Given the description of an element on the screen output the (x, y) to click on. 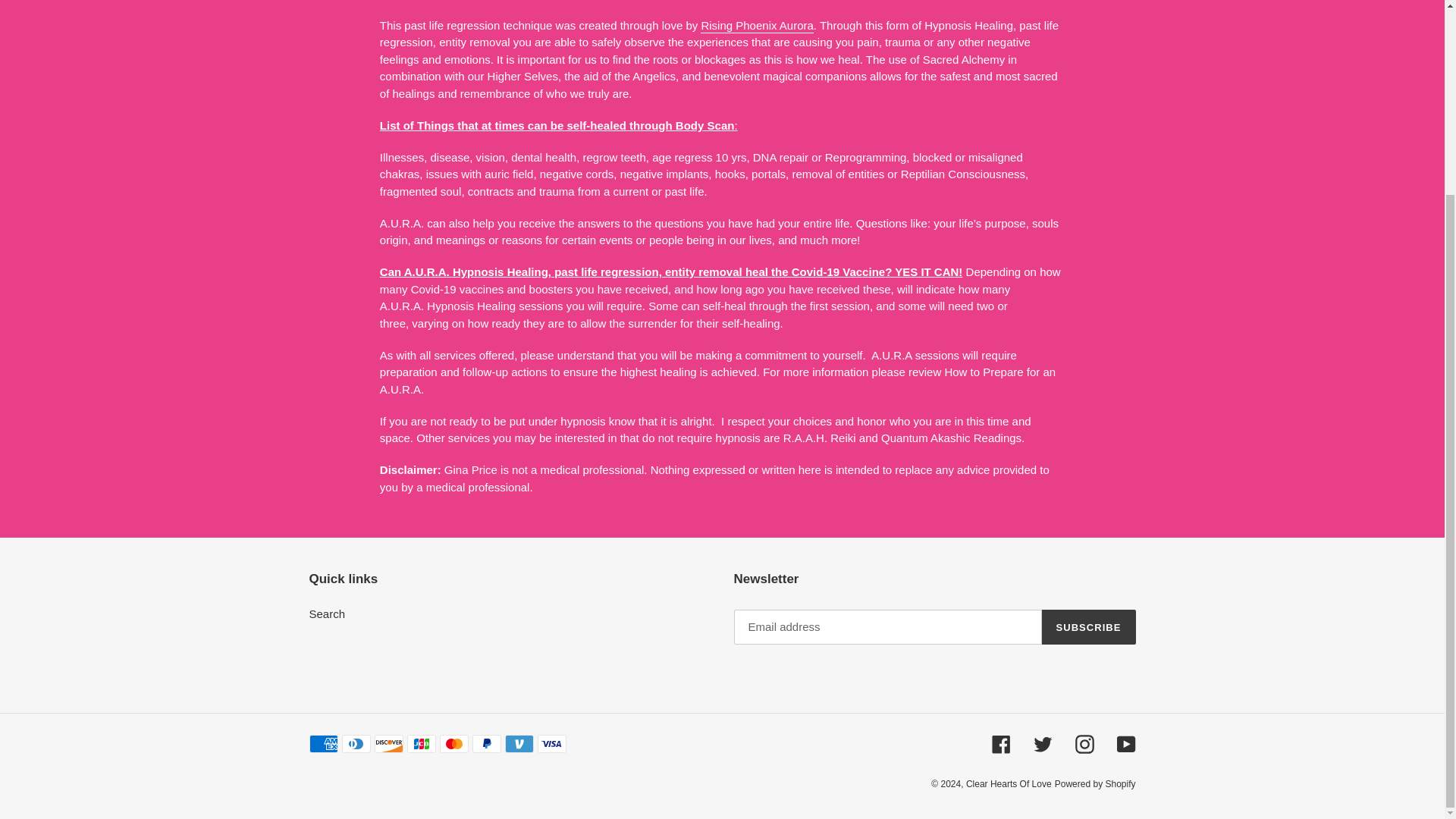
Search (327, 613)
Instagram (1084, 743)
Facebook (1000, 743)
SUBSCRIBE (1088, 626)
Clear Hearts Of Love (1008, 783)
Rising Phoenix Aurora (756, 25)
YouTube (1125, 743)
Twitter (1041, 743)
Rising Phoenix Aurora (756, 25)
Powered by Shopify (1094, 783)
